Given the description of an element on the screen output the (x, y) to click on. 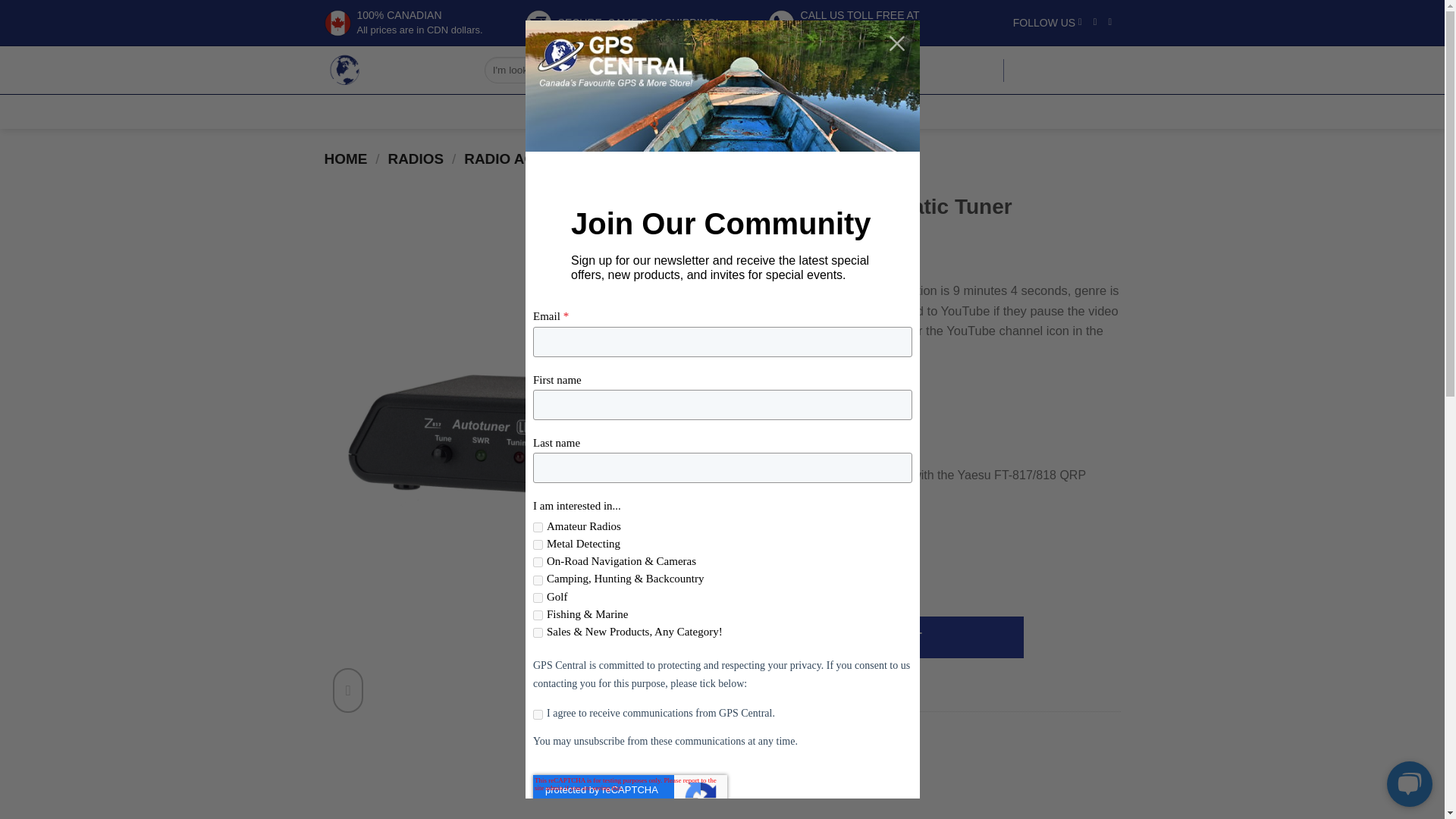
Pin on Pinterest (832, 765)
Share on LinkedIn (860, 765)
Login (973, 69)
GPS Central - Shop In-Store in Calgary or Online Anywhere (392, 69)
Share on Twitter (775, 765)
Email to a Friend (804, 765)
GPS UNITS (589, 110)
Share on Facebook (844, 21)
Cart (747, 765)
1 (1069, 69)
- (766, 583)
LOGIN (742, 583)
AMATEUR RADIOS (973, 69)
Zoom (436, 110)
